Given the description of an element on the screen output the (x, y) to click on. 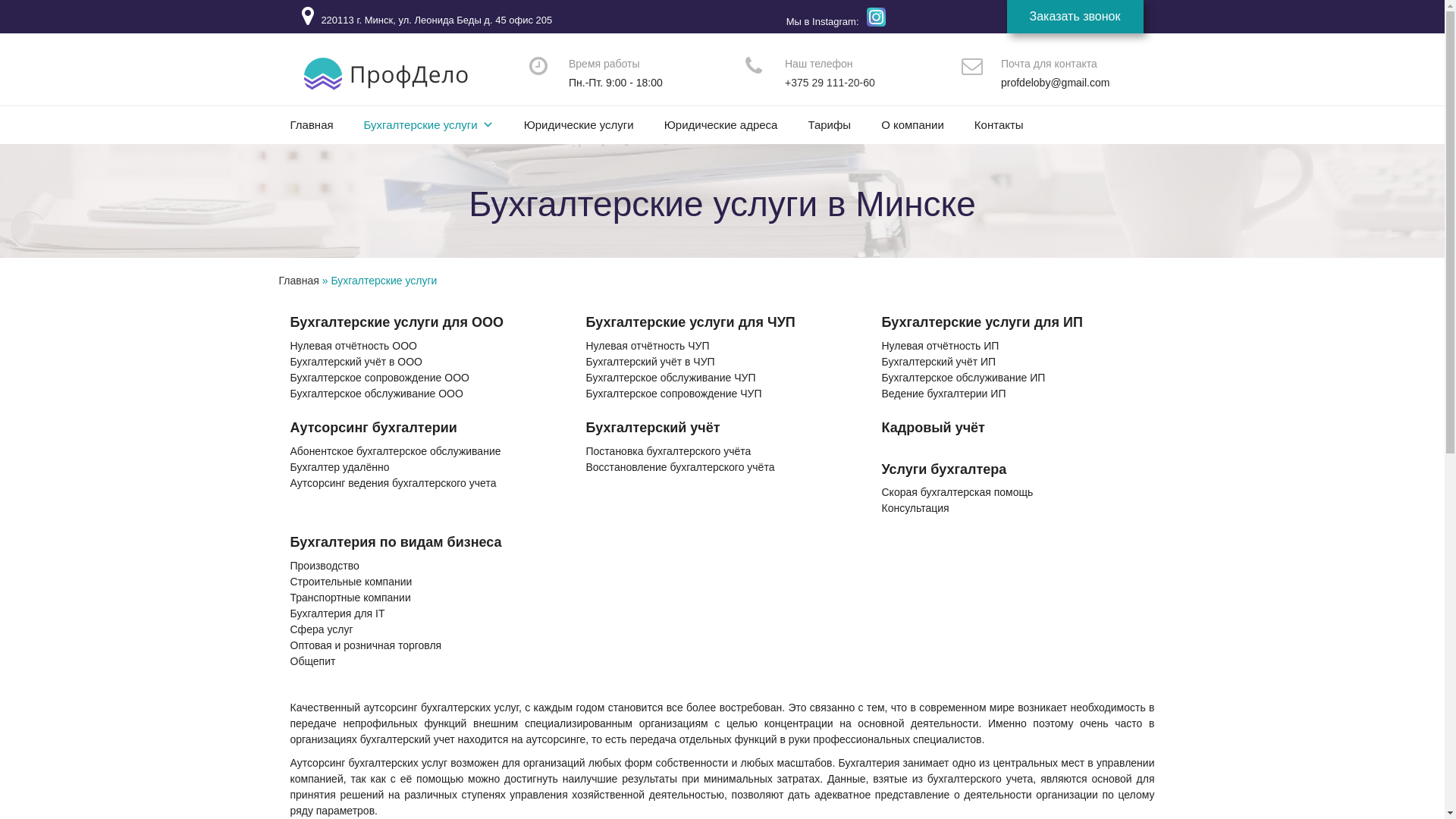
+375 29 111-20-60 Element type: text (829, 82)
